Given the description of an element on the screen output the (x, y) to click on. 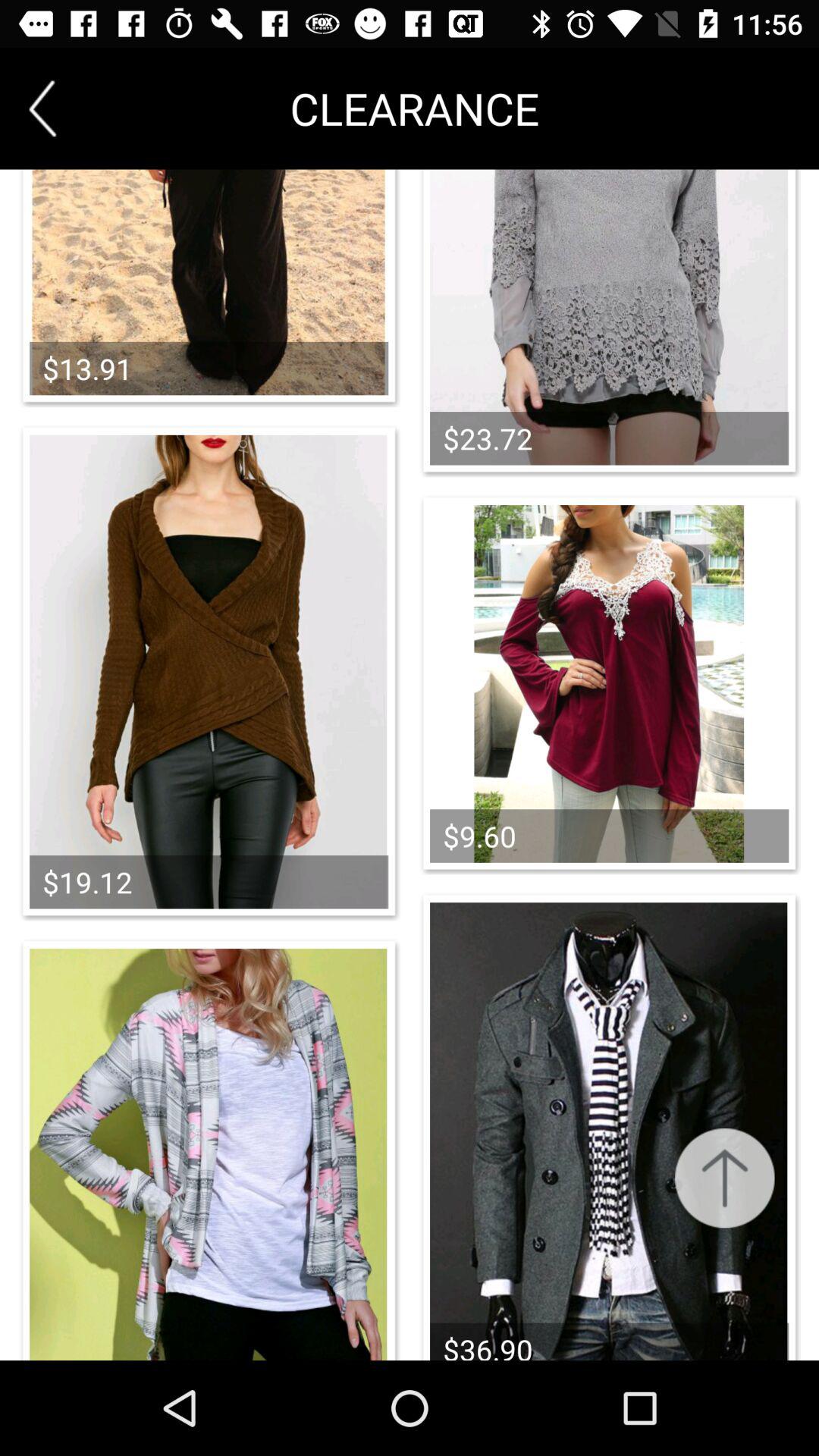
scroll up (724, 1177)
